Given the description of an element on the screen output the (x, y) to click on. 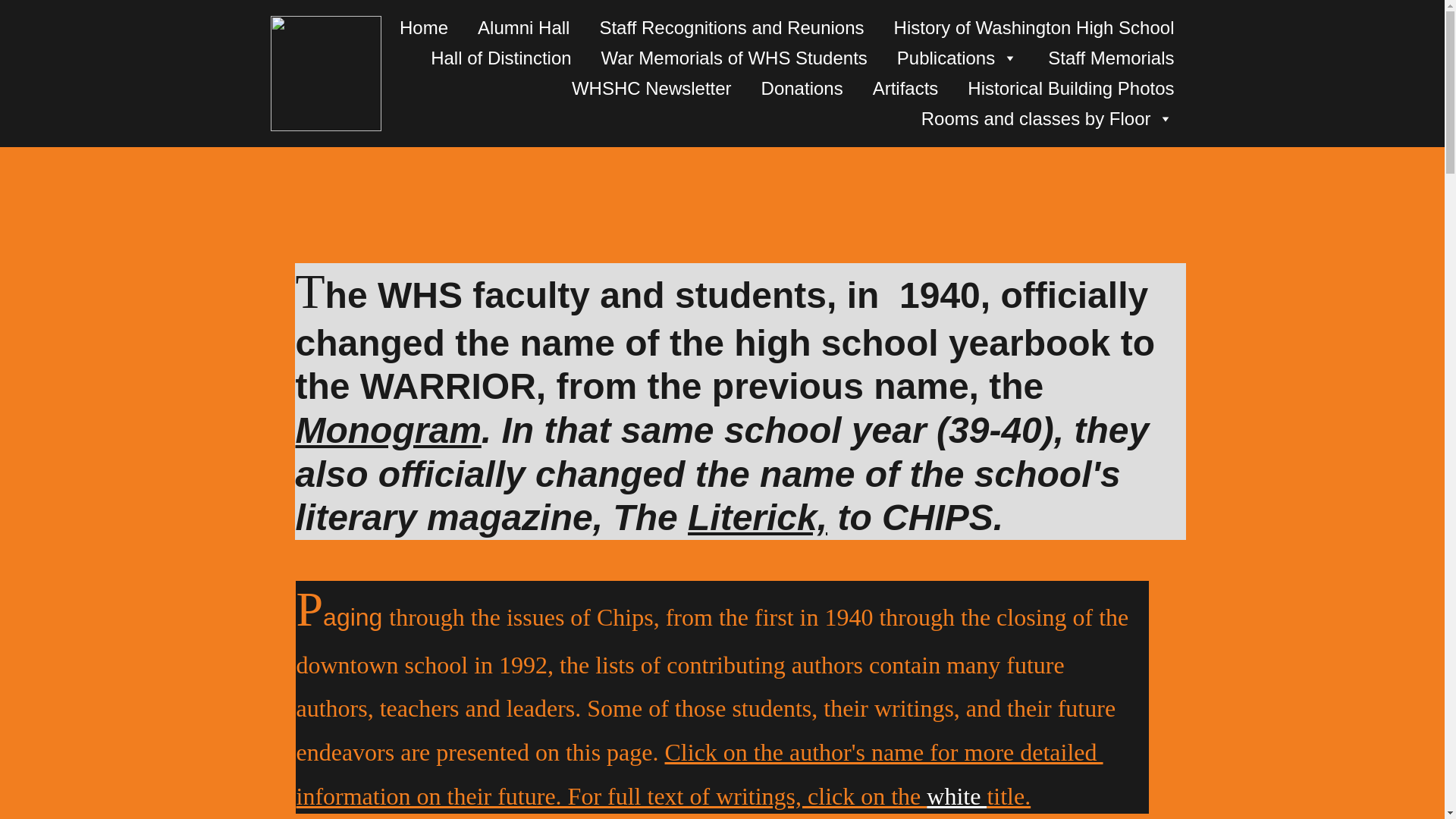
Artifacts (905, 88)
History of Washington High School (1033, 27)
Staff Memorials (1110, 58)
Rooms and classes by Floor (1036, 118)
Publications (945, 58)
Hall of Distinction (500, 58)
Staff Recognitions and Reunions (730, 27)
Donations (802, 88)
Historical Building Photos (1070, 88)
War Memorials of WHS Students (734, 58)
WHSHC Newsletter (652, 88)
Alumni Hall (523, 27)
Home (423, 27)
